Given the description of an element on the screen output the (x, y) to click on. 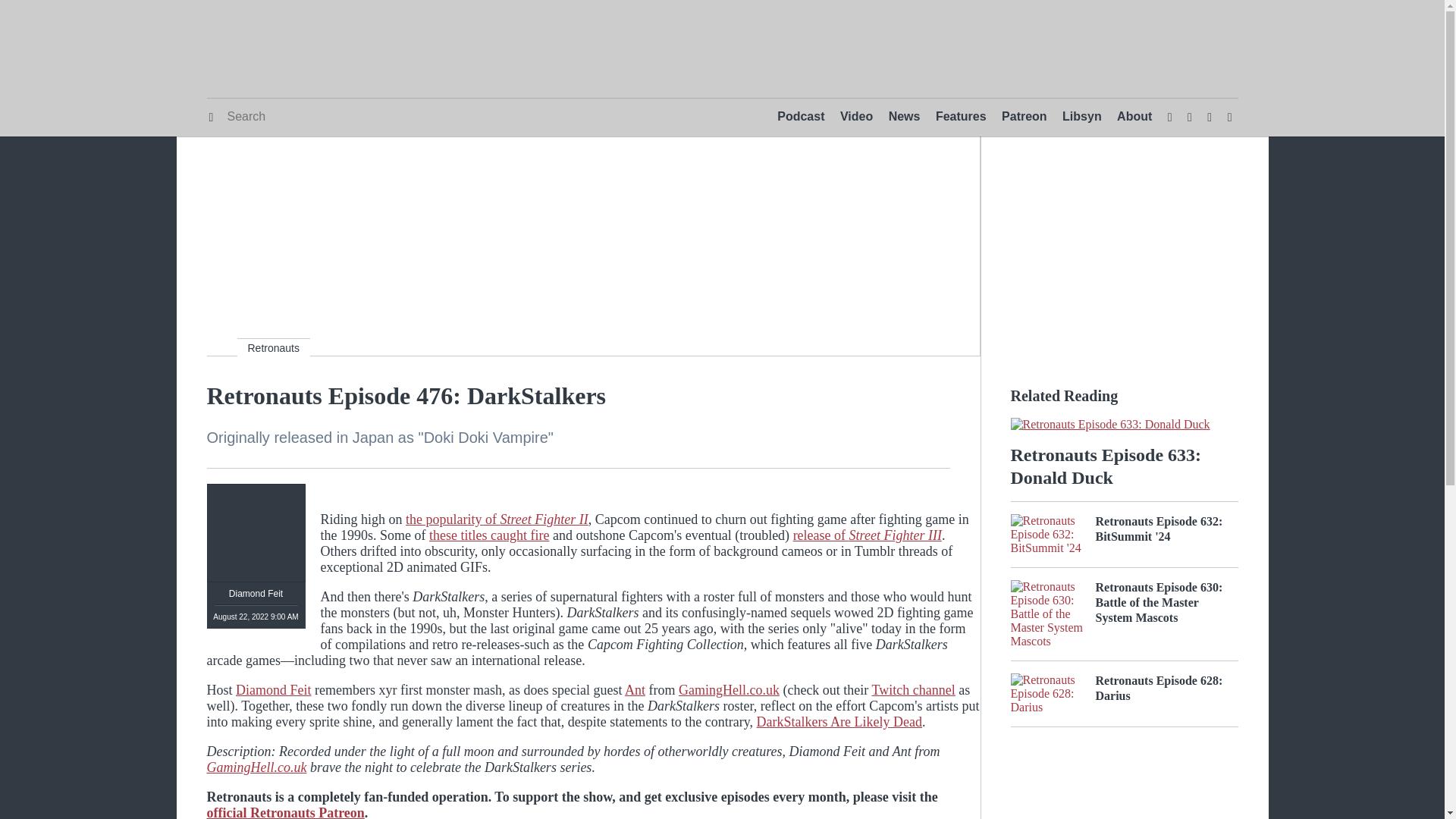
Retronauts (271, 347)
Libsyn (1082, 116)
GamingHell.co.uk (255, 767)
GamingHell.co.uk (728, 689)
these titles caught fire (488, 534)
the popularity of Street Fighter II (497, 519)
Twitch channel (913, 689)
Ant (634, 689)
DarkStalkers Are Likely Dead (839, 721)
News (904, 116)
